Given the description of an element on the screen output the (x, y) to click on. 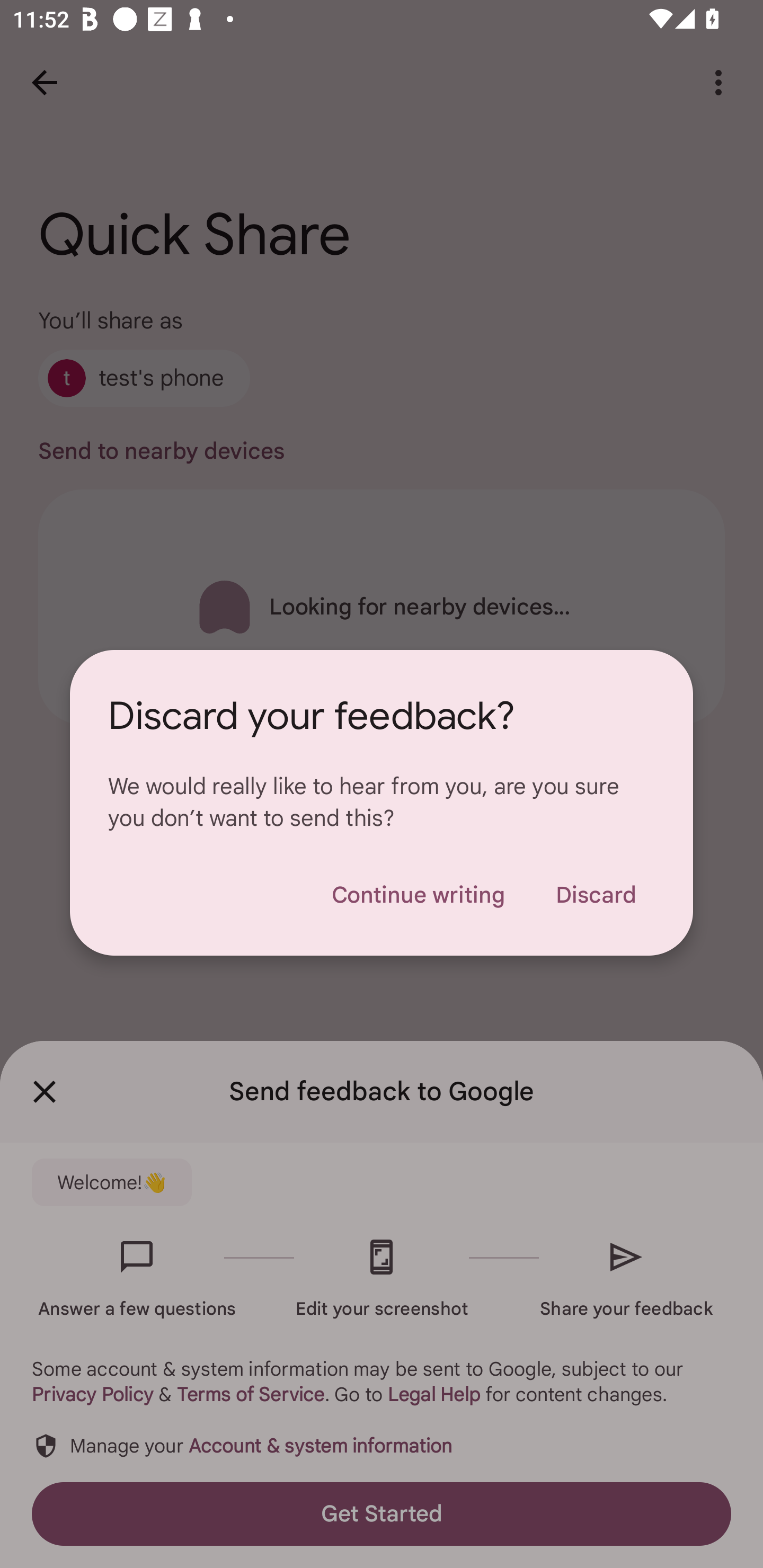
Continue writing (417, 894)
Discard (595, 894)
